Given the description of an element on the screen output the (x, y) to click on. 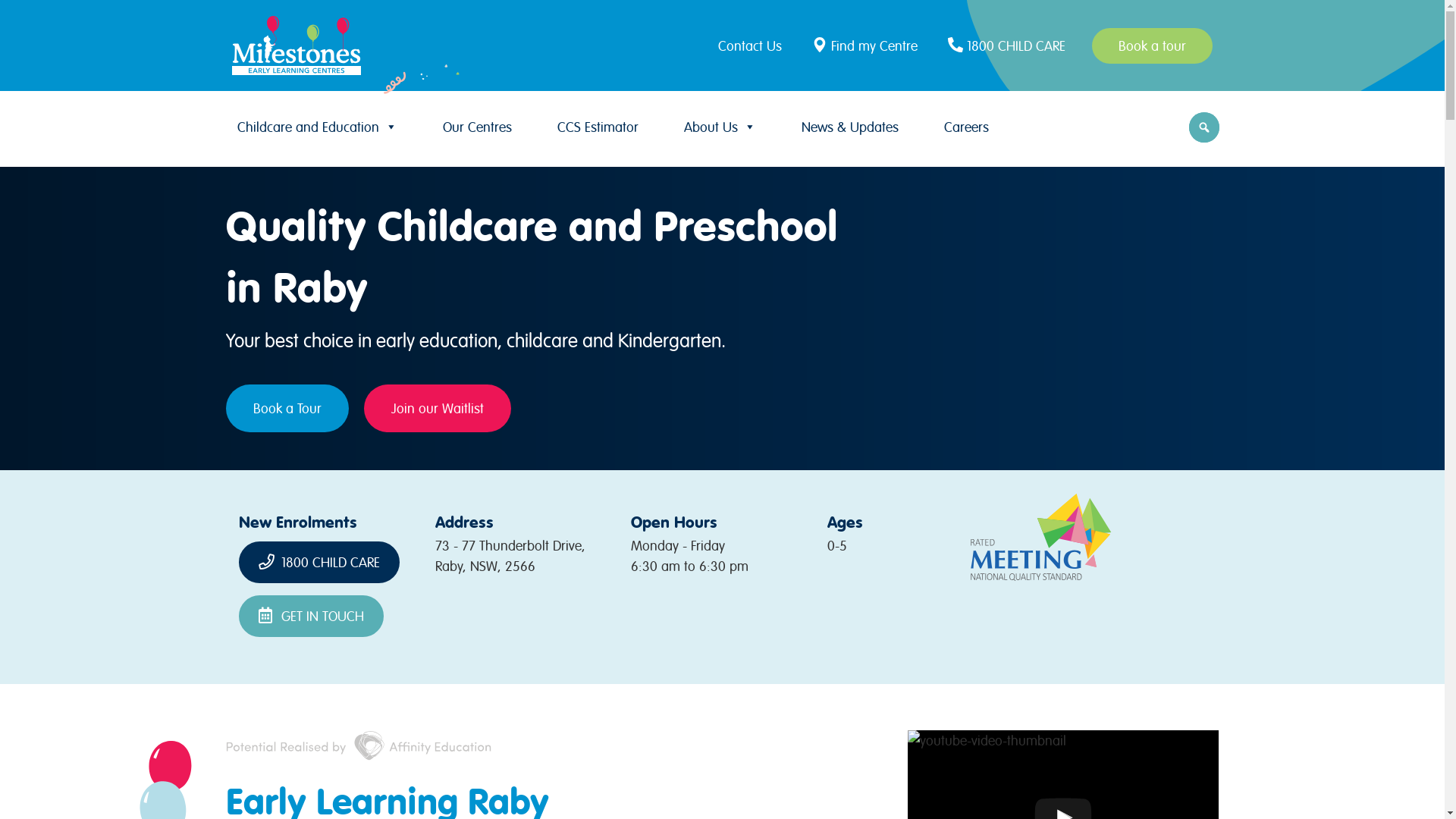
Careers Element type: text (965, 127)
About Us Element type: text (719, 127)
potential-realised-by-affinity-education Element type: hover (358, 745)
Contact Us Element type: text (753, 44)
Find my Centre Element type: text (866, 44)
News & Updates Element type: text (849, 127)
GET IN TOUCH Element type: text (310, 616)
1800 CHILD CARE Element type: text (1008, 44)
CCS Estimator Element type: text (597, 127)
Book a tour Element type: text (1152, 44)
Our Centres Element type: text (477, 127)
Search Element type: text (15, 17)
1800 CHILD CARE Element type: text (318, 562)
Join our Waitlist Element type: text (437, 408)
Childcare and Education Element type: text (316, 127)
Book a Tour Element type: text (286, 408)
